Given the description of an element on the screen output the (x, y) to click on. 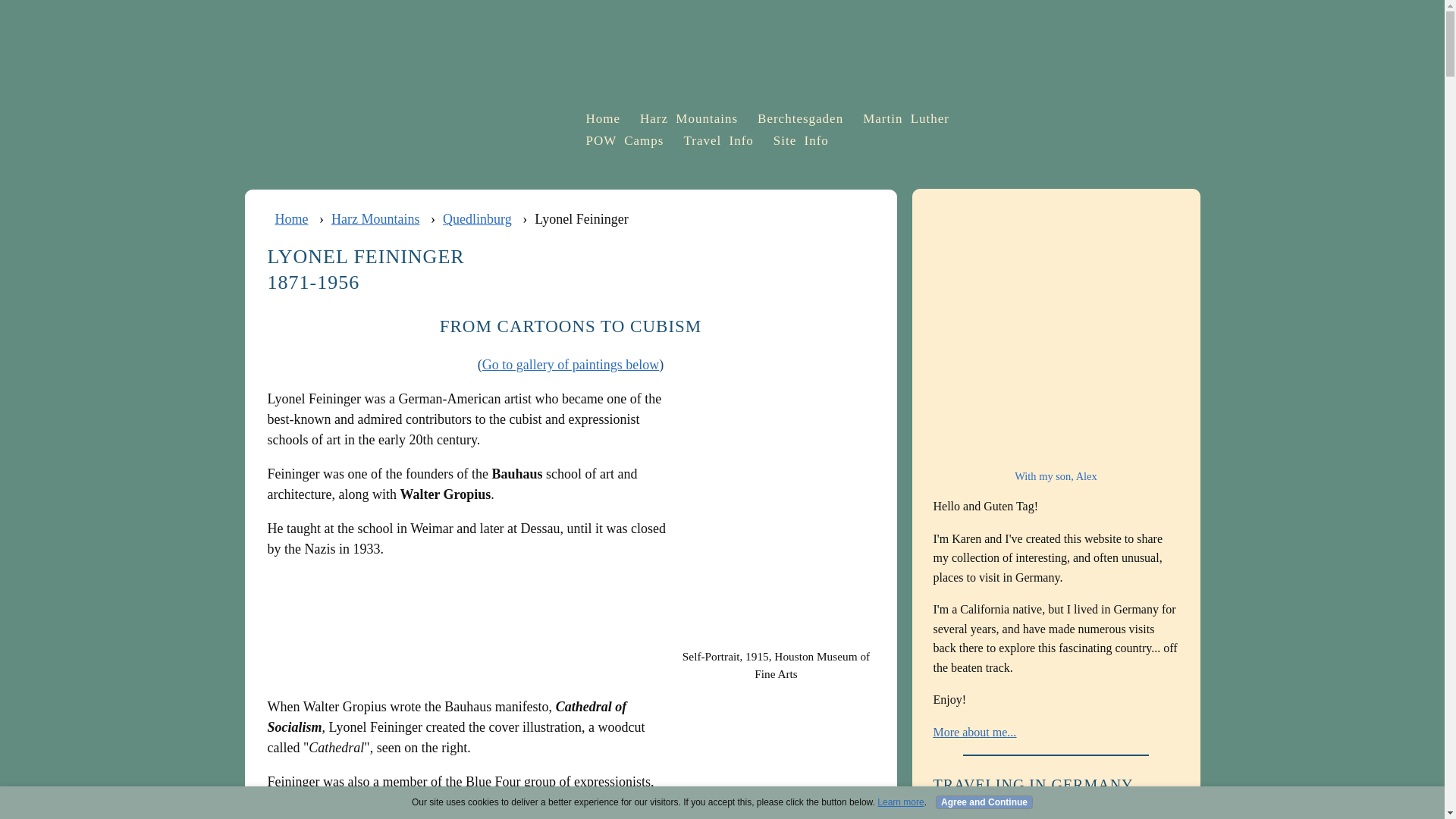
Home (600, 118)
Home (291, 218)
Go to gallery of paintings below (570, 364)
Harz Mountains (375, 218)
Quedlinburg (477, 218)
